Given the description of an element on the screen output the (x, y) to click on. 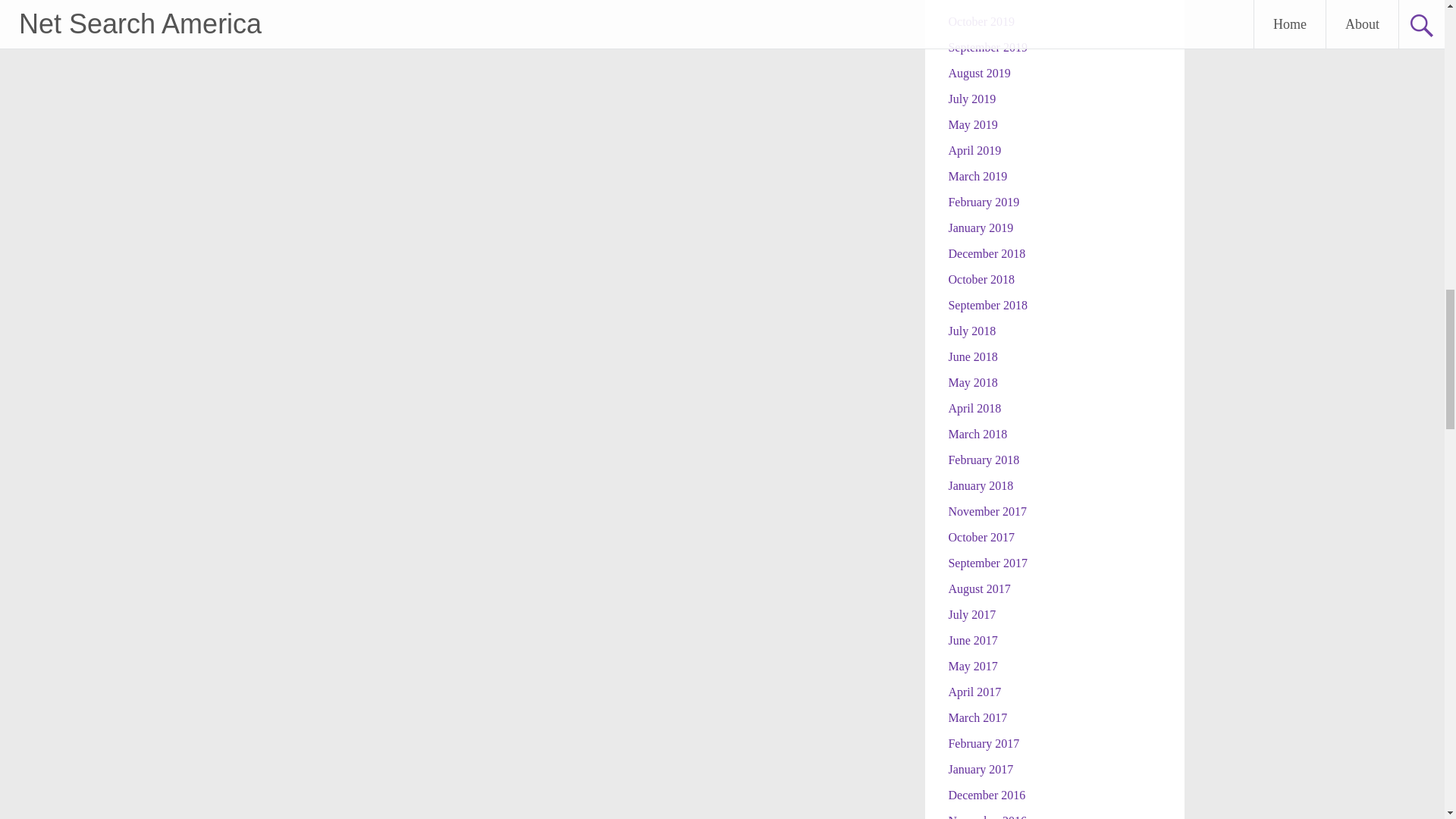
September 2019 (986, 47)
February 2019 (983, 201)
November 2019 (986, 1)
August 2019 (978, 72)
March 2019 (977, 175)
January 2019 (980, 227)
October 2019 (980, 21)
April 2019 (974, 150)
July 2019 (971, 98)
May 2019 (972, 124)
